Given the description of an element on the screen output the (x, y) to click on. 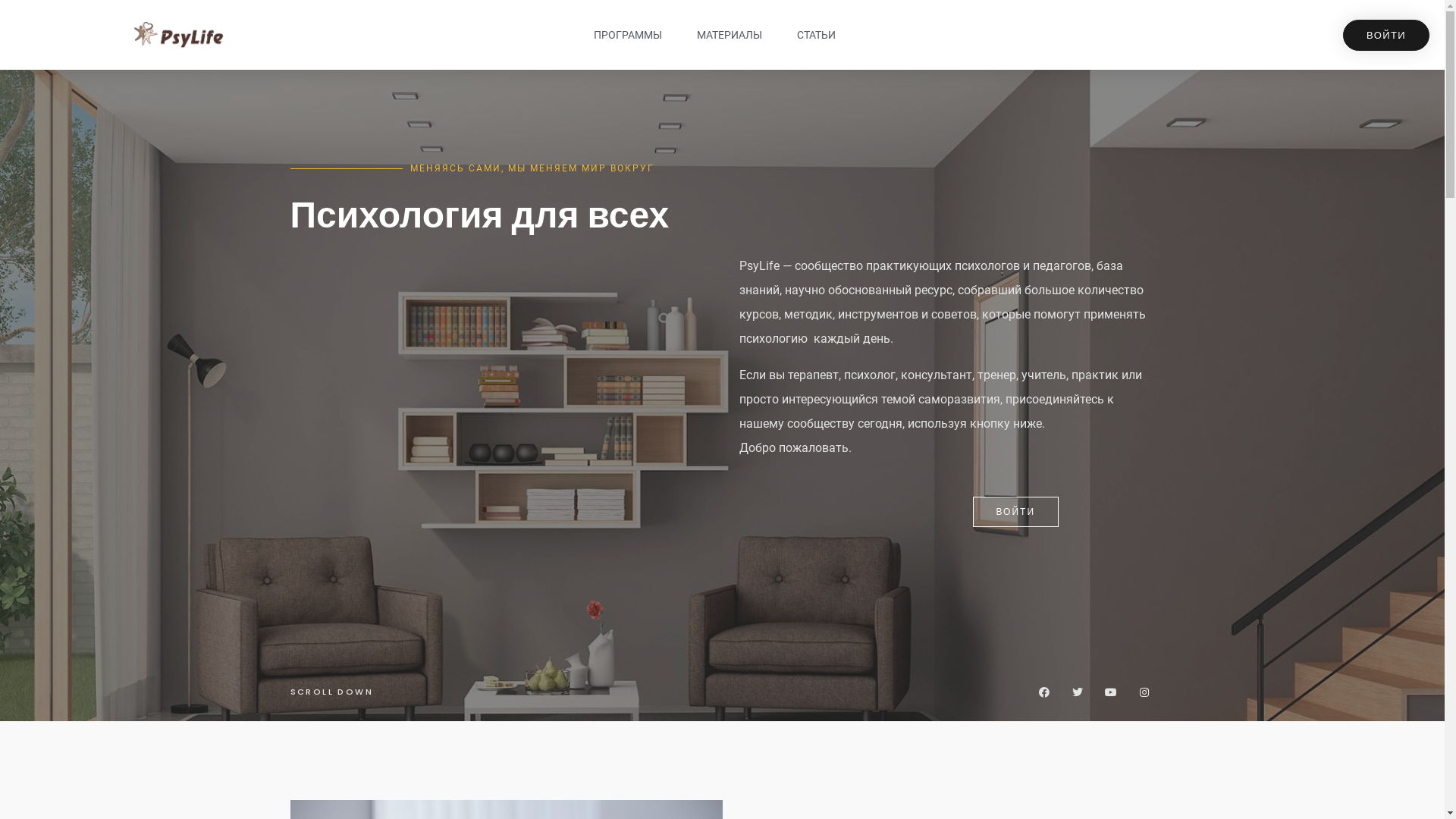
SCROLL DOWN Element type: text (330, 691)
